Given the description of an element on the screen output the (x, y) to click on. 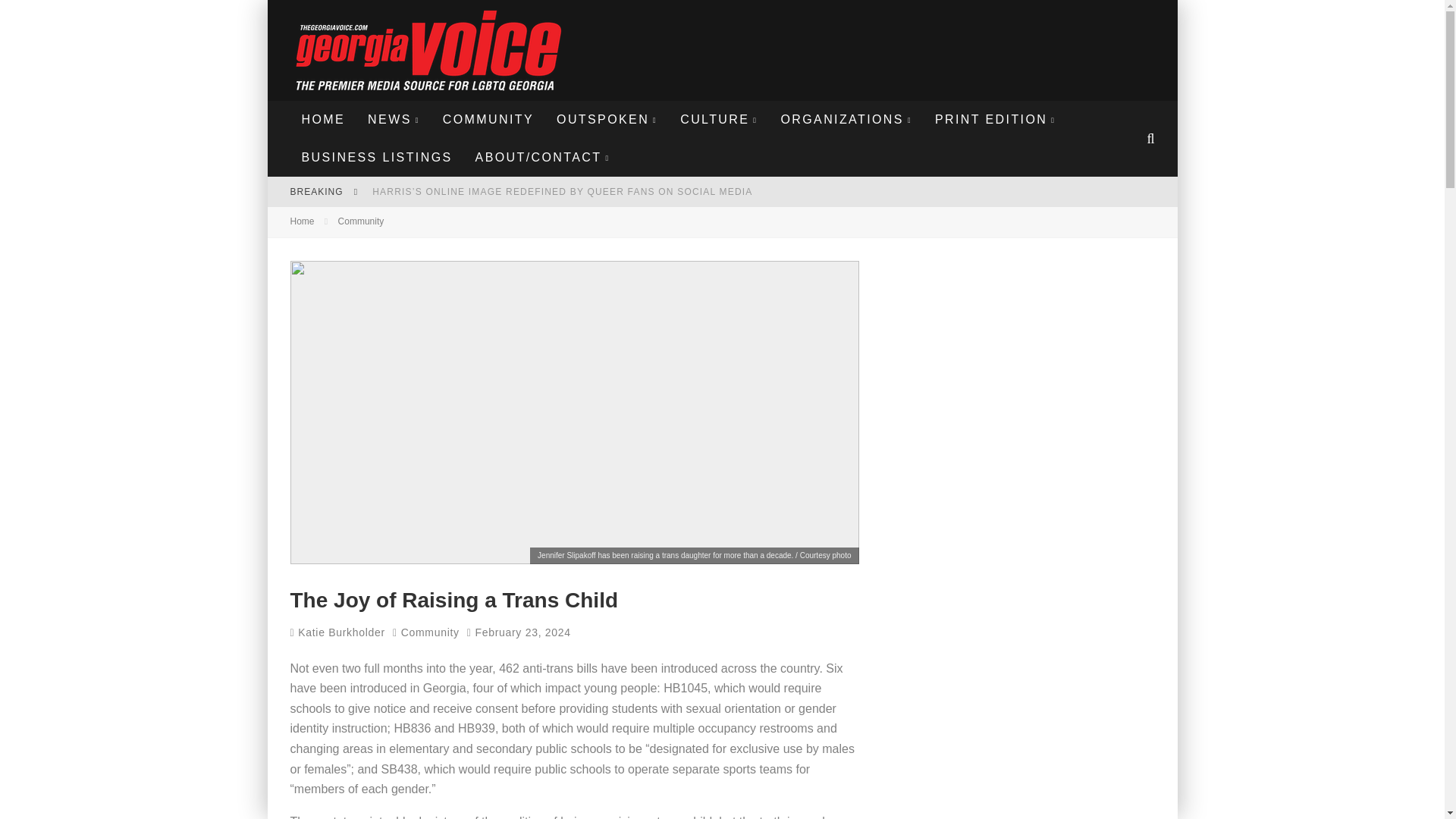
COMMUNITY (487, 119)
OUTSPOKEN (606, 119)
CULTURE (718, 119)
HOME (322, 119)
NEWS (393, 119)
